Given the description of an element on the screen output the (x, y) to click on. 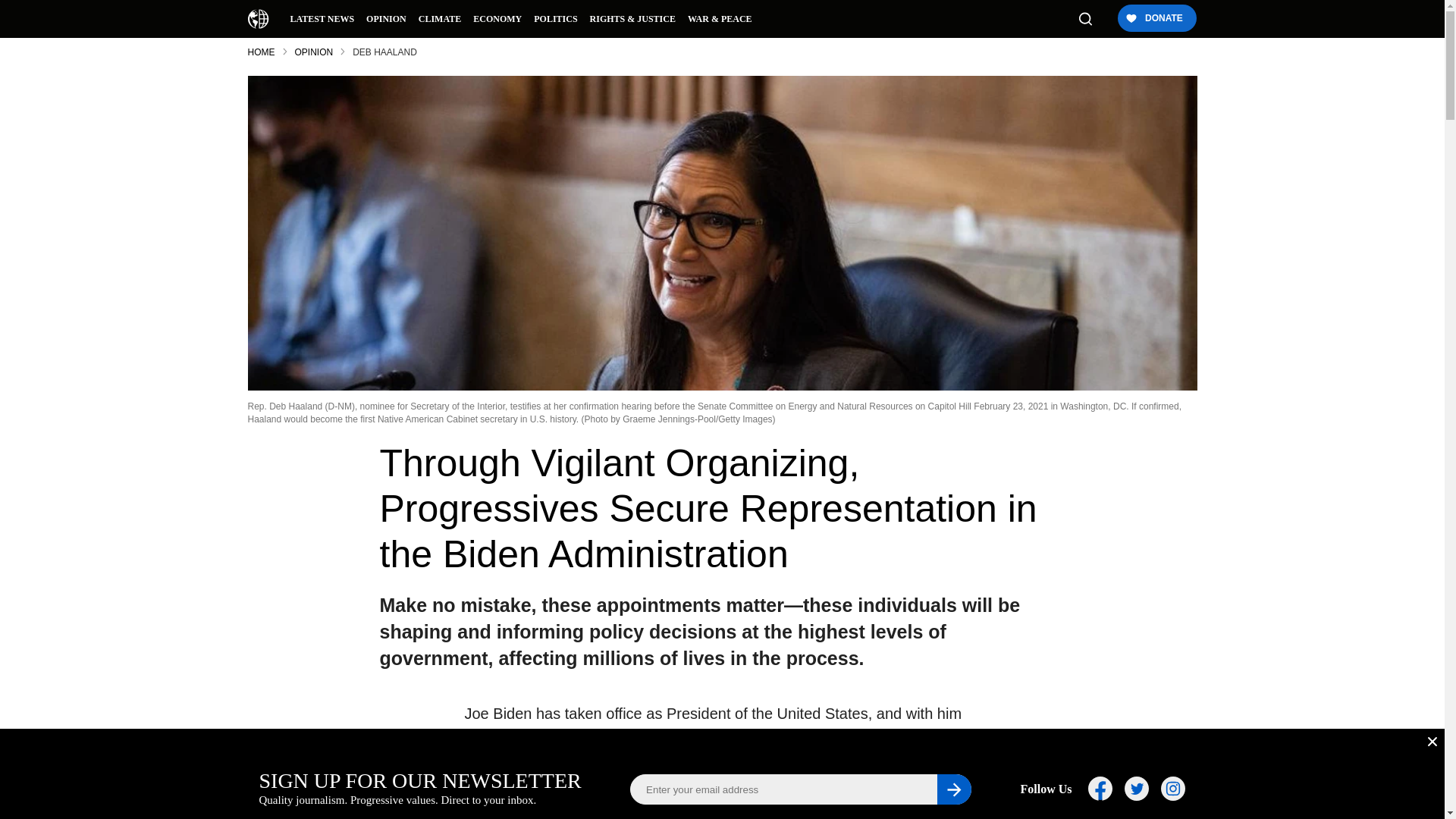
Common Dreams (257, 17)
LATEST NEWS (321, 18)
Donate Button (1155, 19)
POLITICS (555, 18)
ECONOMY (497, 18)
CLIMATE (439, 18)
OPINION (385, 18)
